Given the description of an element on the screen output the (x, y) to click on. 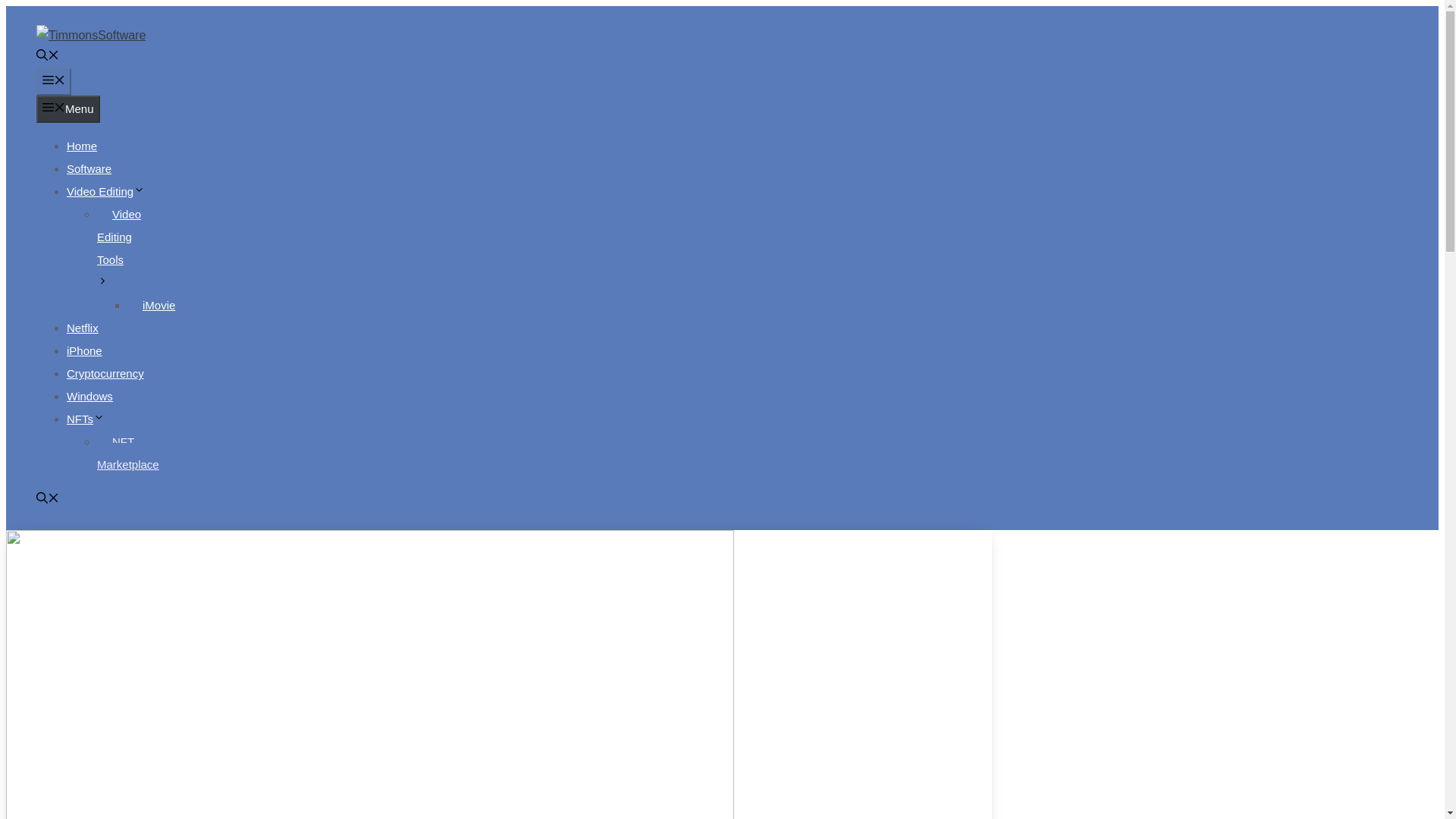
Menu (68, 108)
Cryptocurrency (105, 373)
iPhone (83, 350)
Home (81, 145)
NFT Marketplace (135, 453)
Video Editing (105, 191)
Menu (53, 81)
Software (89, 168)
